Given the description of an element on the screen output the (x, y) to click on. 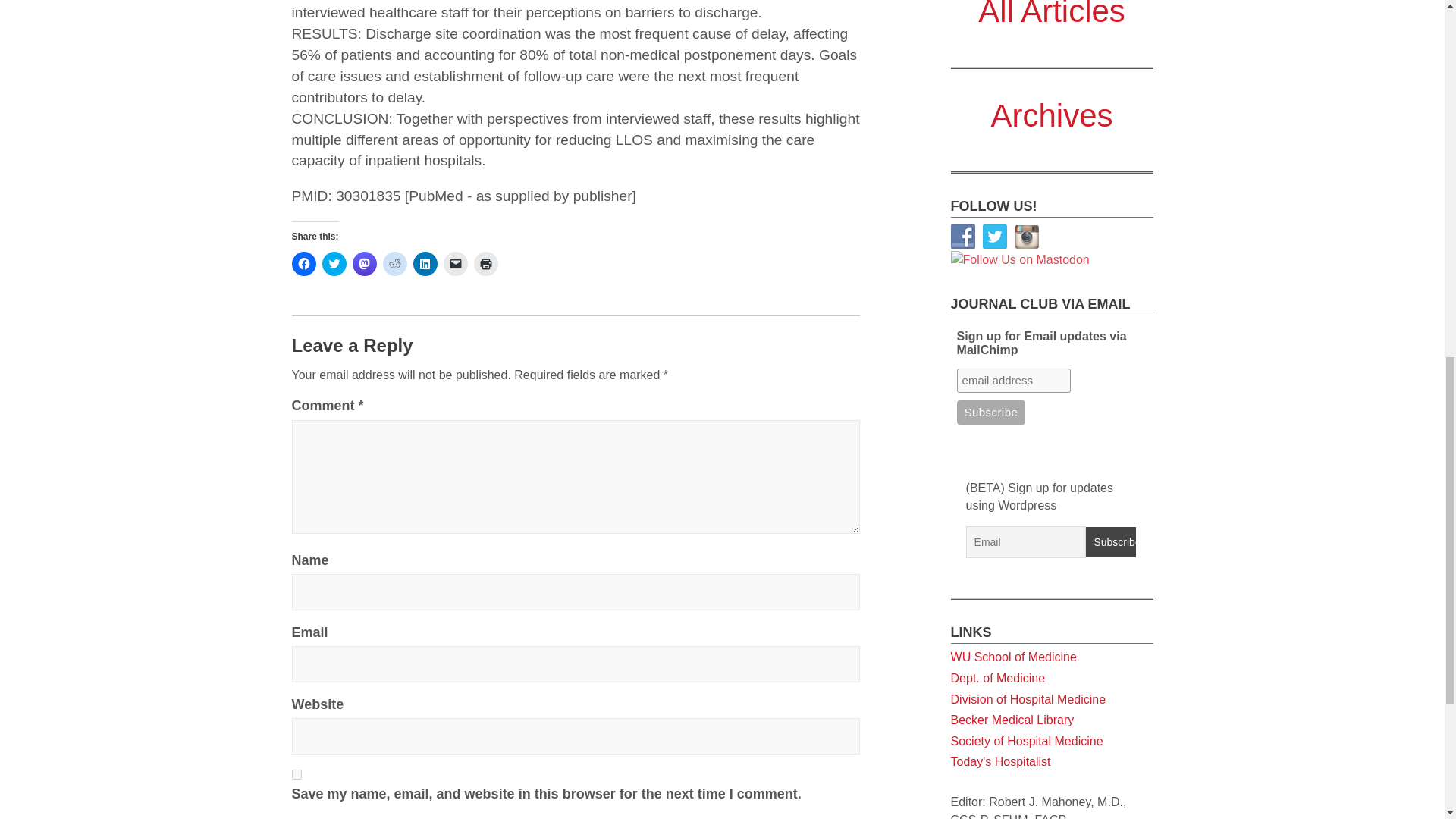
Click to email a link to a friend (454, 263)
yes (296, 774)
Dept. of Medicine (997, 59)
Click to print (485, 263)
WU School of Medicine (1013, 38)
Click to share on Mastodon (363, 263)
Becker Medical Library (1012, 101)
Click to share on Facebook (303, 263)
Click to share on LinkedIn (424, 263)
Click to share on Reddit (393, 263)
Division of Hospital Medicine (1028, 80)
Click to share on Twitter (333, 263)
